Given the description of an element on the screen output the (x, y) to click on. 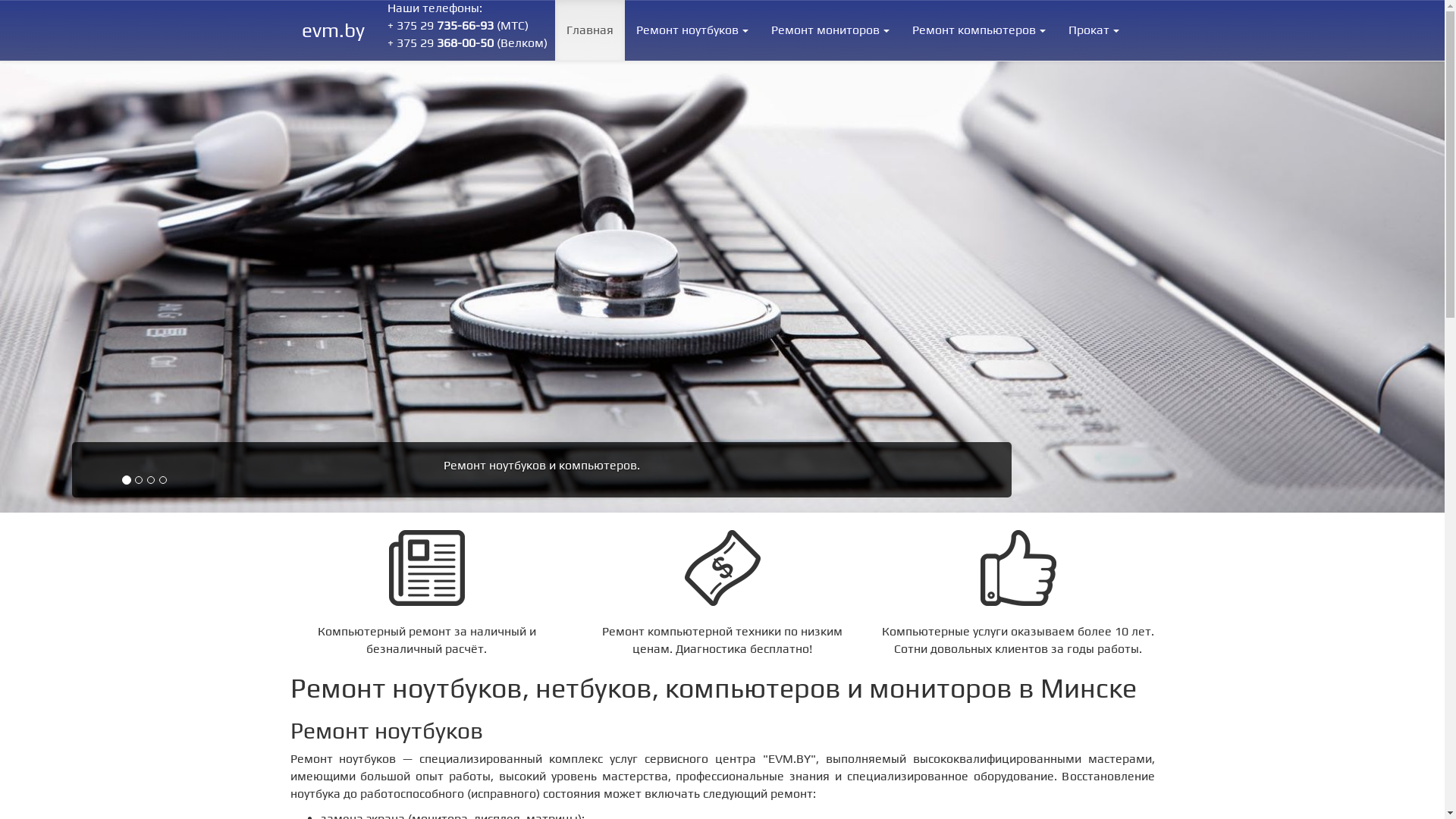
evm.by Element type: text (332, 29)
